Given the description of an element on the screen output the (x, y) to click on. 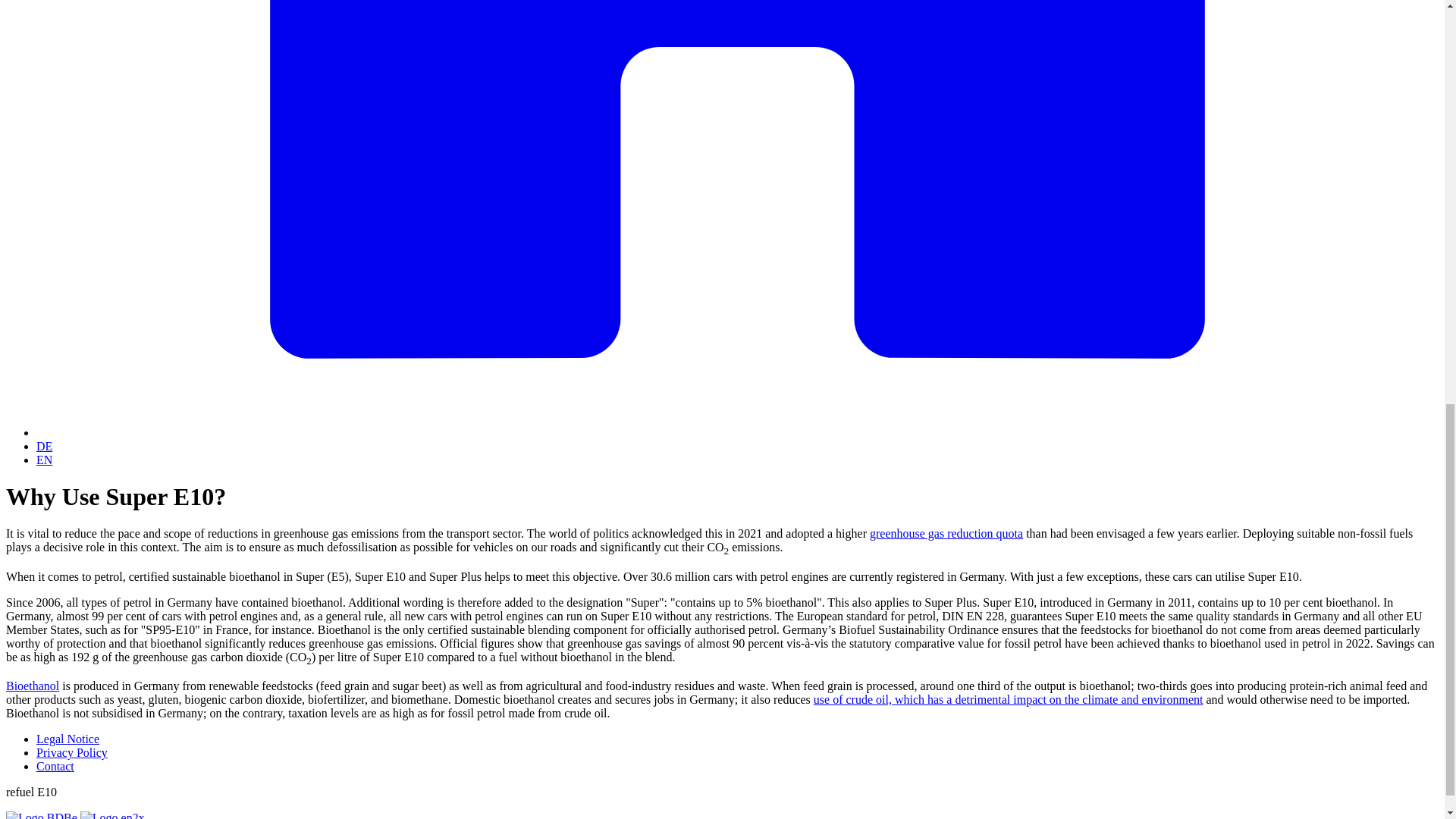
EN (44, 459)
DE (44, 445)
Privacy Policy (71, 752)
greenhouse gas reduction quota (946, 533)
Bioethanol (32, 685)
Contact (55, 766)
Legal Notice (67, 738)
